Given the description of an element on the screen output the (x, y) to click on. 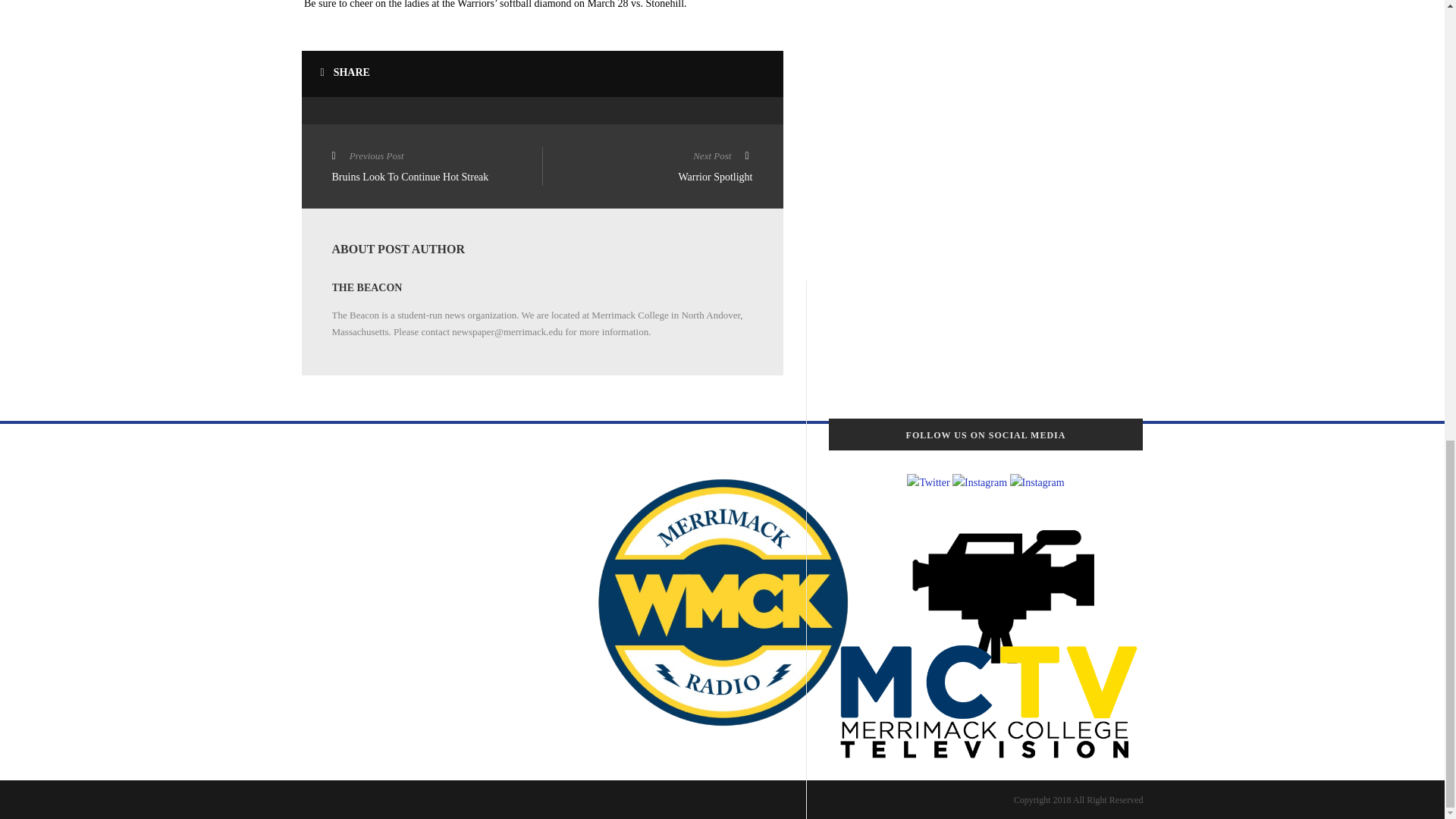
Posts by The Beacon (367, 287)
